Given the description of an element on the screen output the (x, y) to click on. 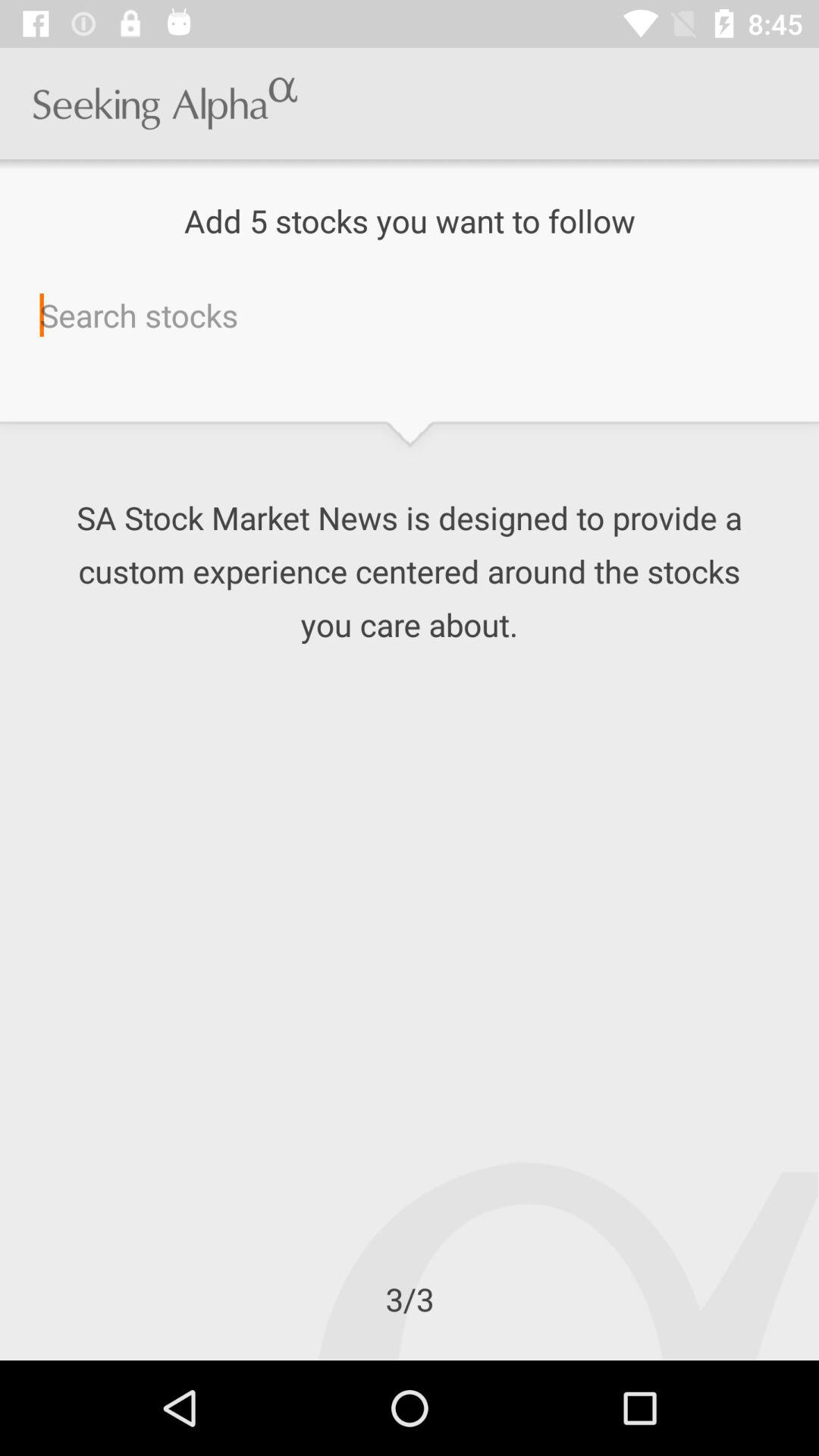
type stock name (409, 315)
